Given the description of an element on the screen output the (x, y) to click on. 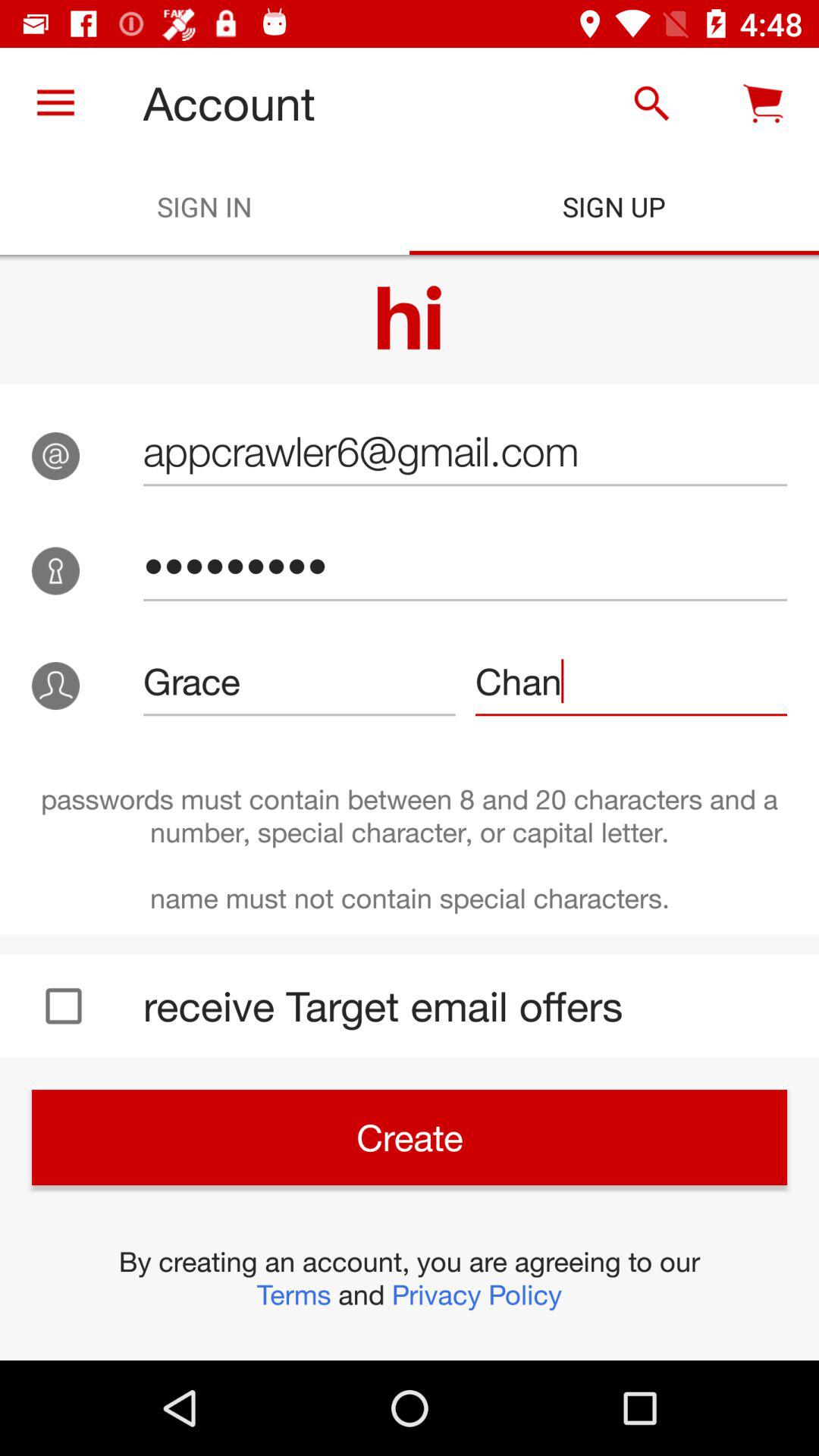
turn off chan icon (631, 681)
